Given the description of an element on the screen output the (x, y) to click on. 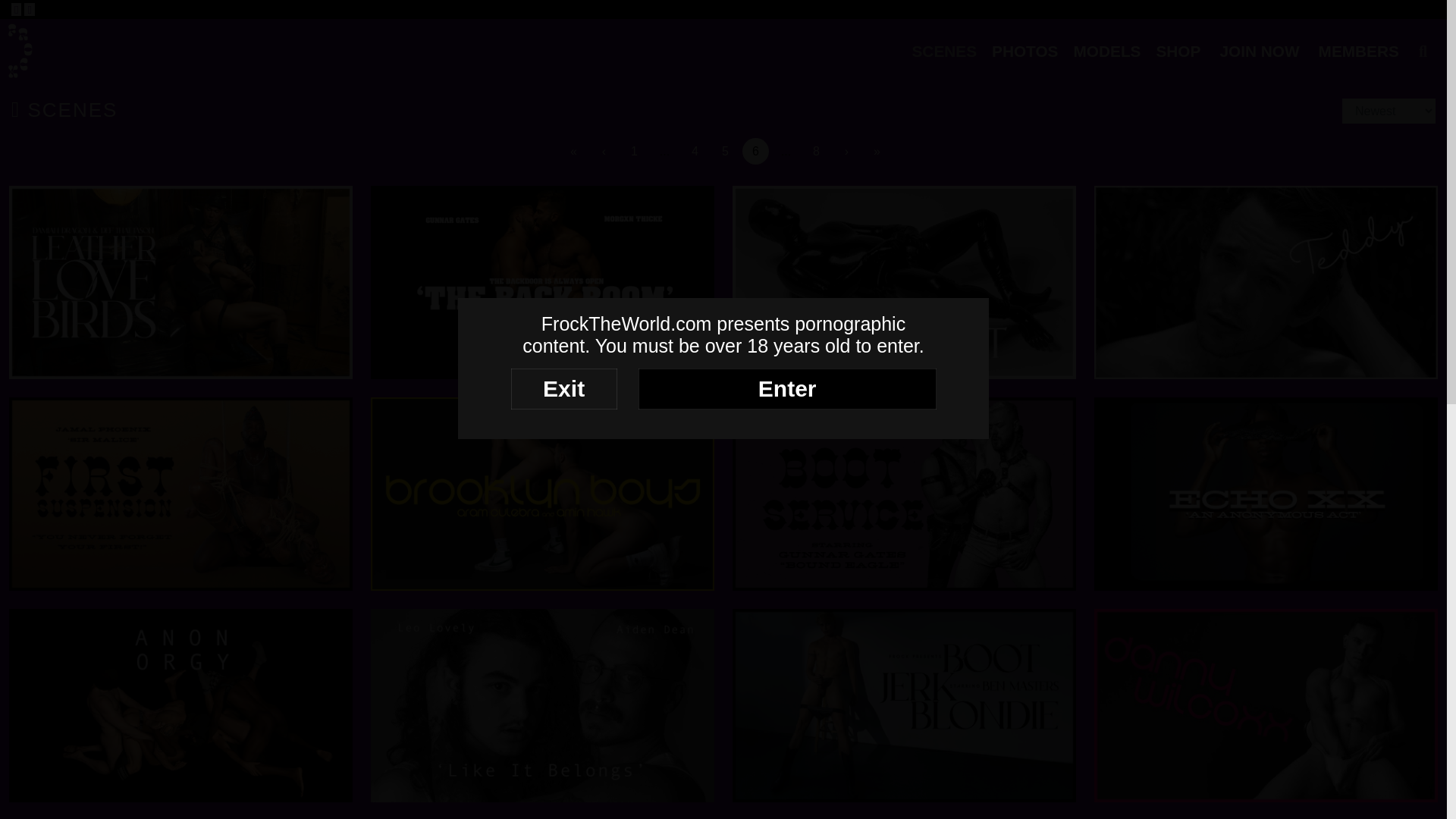
Enter (787, 388)
MODELS (1106, 50)
4 (694, 151)
Exit (564, 388)
SCENES (943, 50)
MEMBERS (1359, 50)
PHOTOS (1024, 50)
... (664, 151)
1 (634, 151)
... (786, 151)
8 (816, 151)
SHOP (1177, 50)
6 (755, 151)
5 (724, 151)
JOIN NOW (1259, 50)
